Given the description of an element on the screen output the (x, y) to click on. 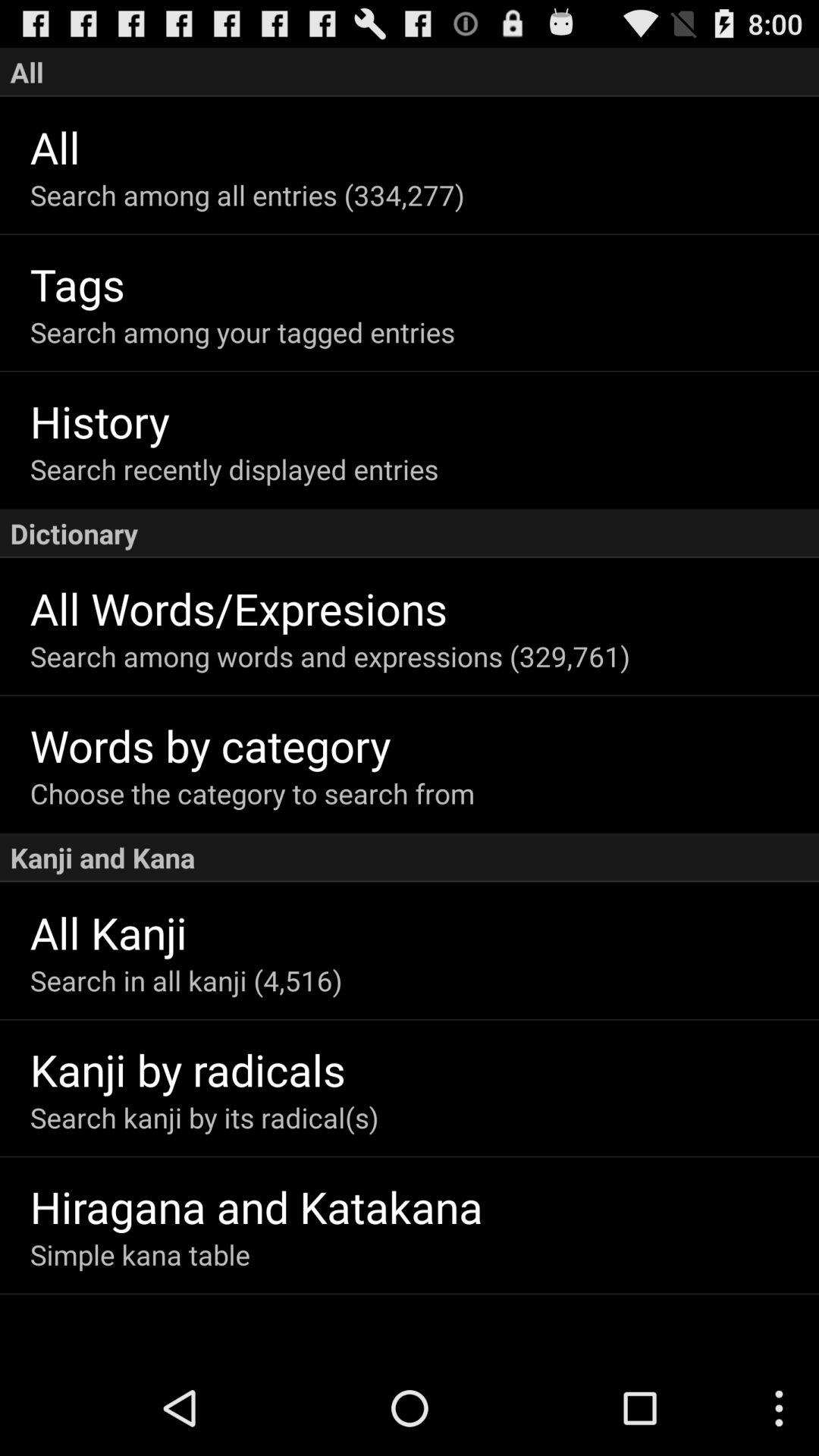
turn off icon above kanji and kana item (424, 793)
